Given the description of an element on the screen output the (x, y) to click on. 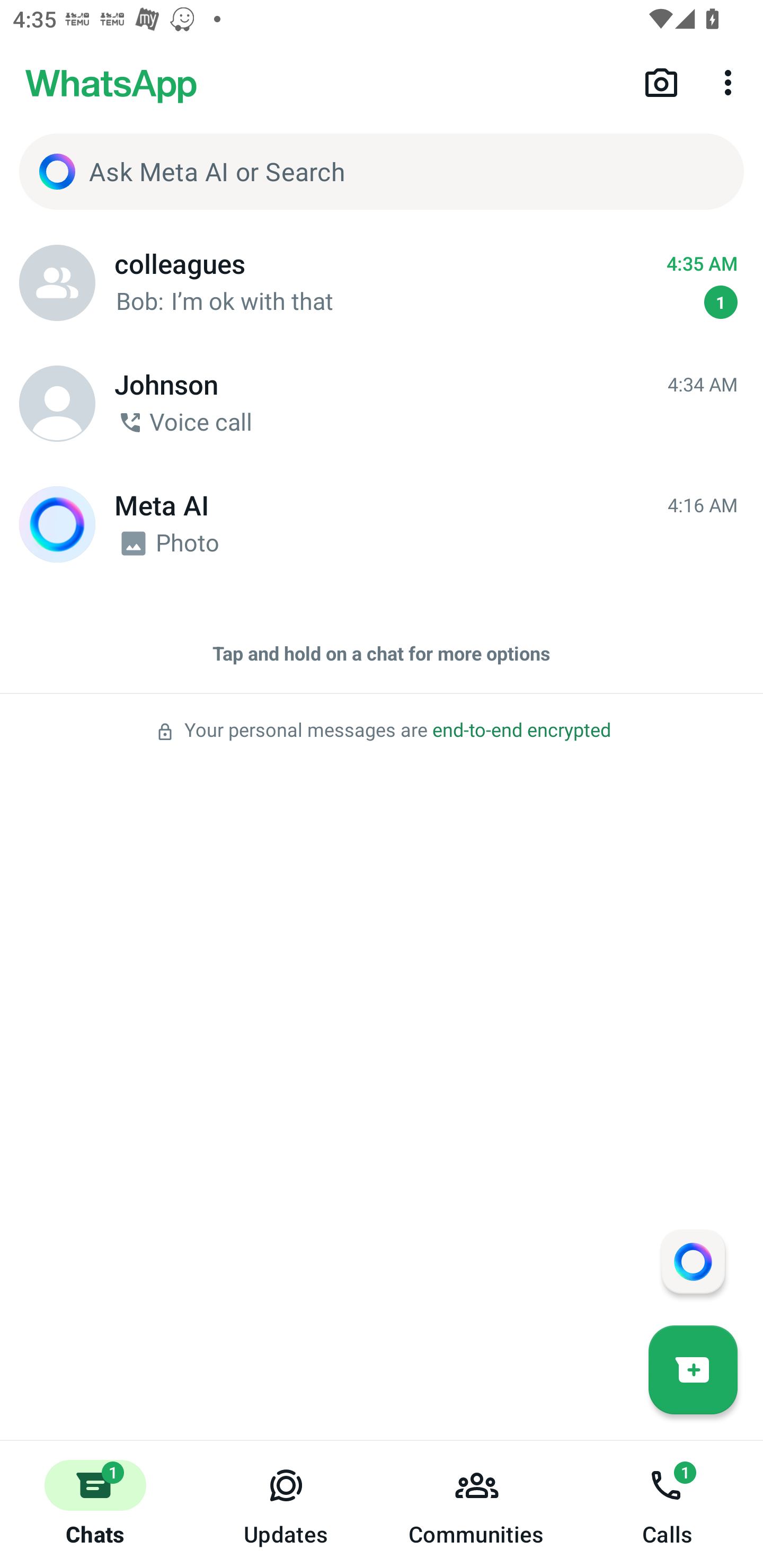
Camera (661, 81)
More options (731, 81)
colleagues (57, 282)
Johnson Johnson 4:34 AM 4:34 AM Voice call (381, 403)
Johnson (57, 403)
Meta AI Meta AI 4:16 AM 4:16 AM Photo (381, 524)
Meta AI (57, 524)
end-to-end encrypted (521, 730)
Message your assistant (692, 1261)
New chat (692, 1369)
Updates (285, 1504)
Communities (476, 1504)
Calls, 1 new notification Calls (667, 1504)
